Given the description of an element on the screen output the (x, y) to click on. 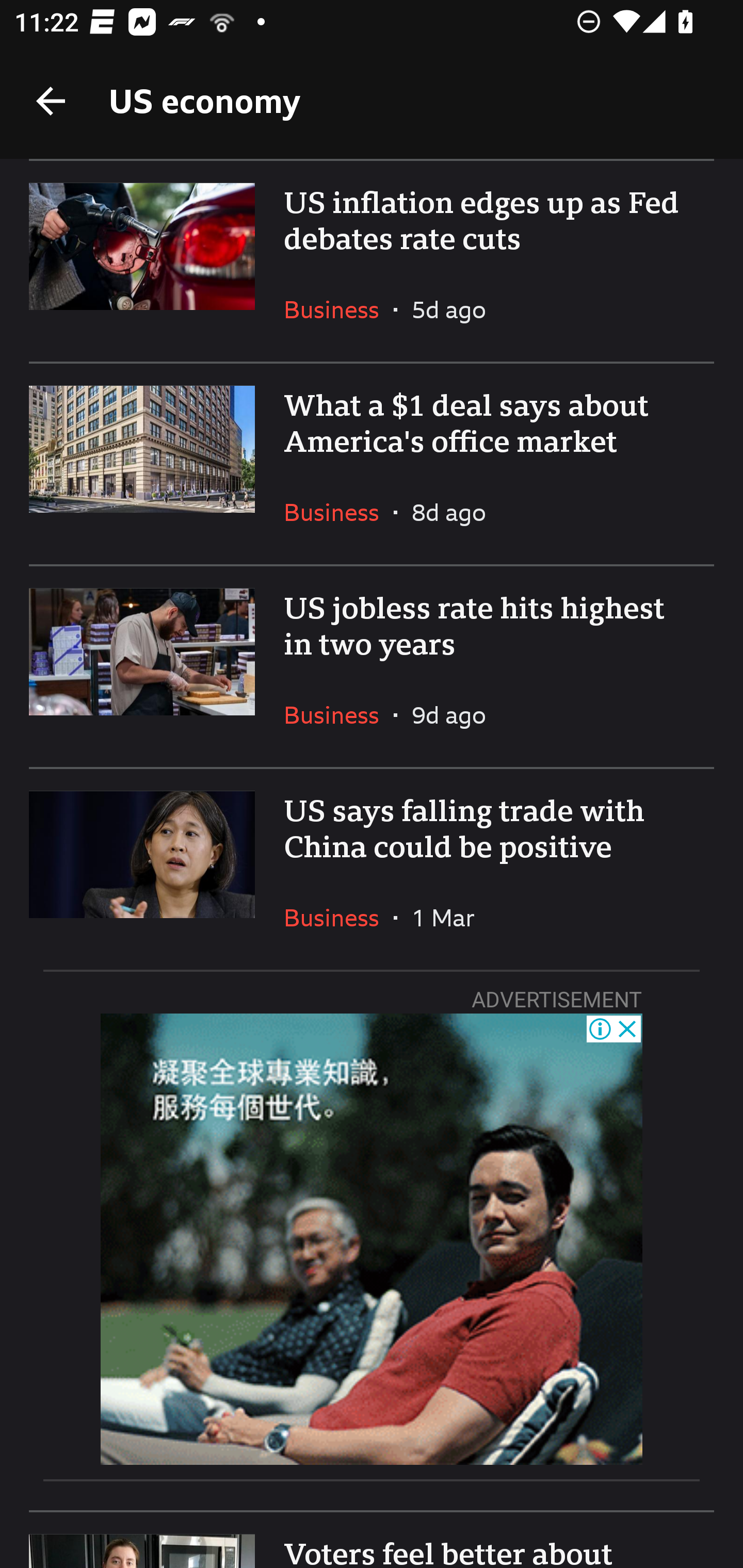
Back (50, 101)
Business In the section Business (338, 309)
Business In the section Business (338, 511)
Business In the section Business (338, 714)
Business In the section Business (338, 917)
Advertisement (371, 1239)
